Given the description of an element on the screen output the (x, y) to click on. 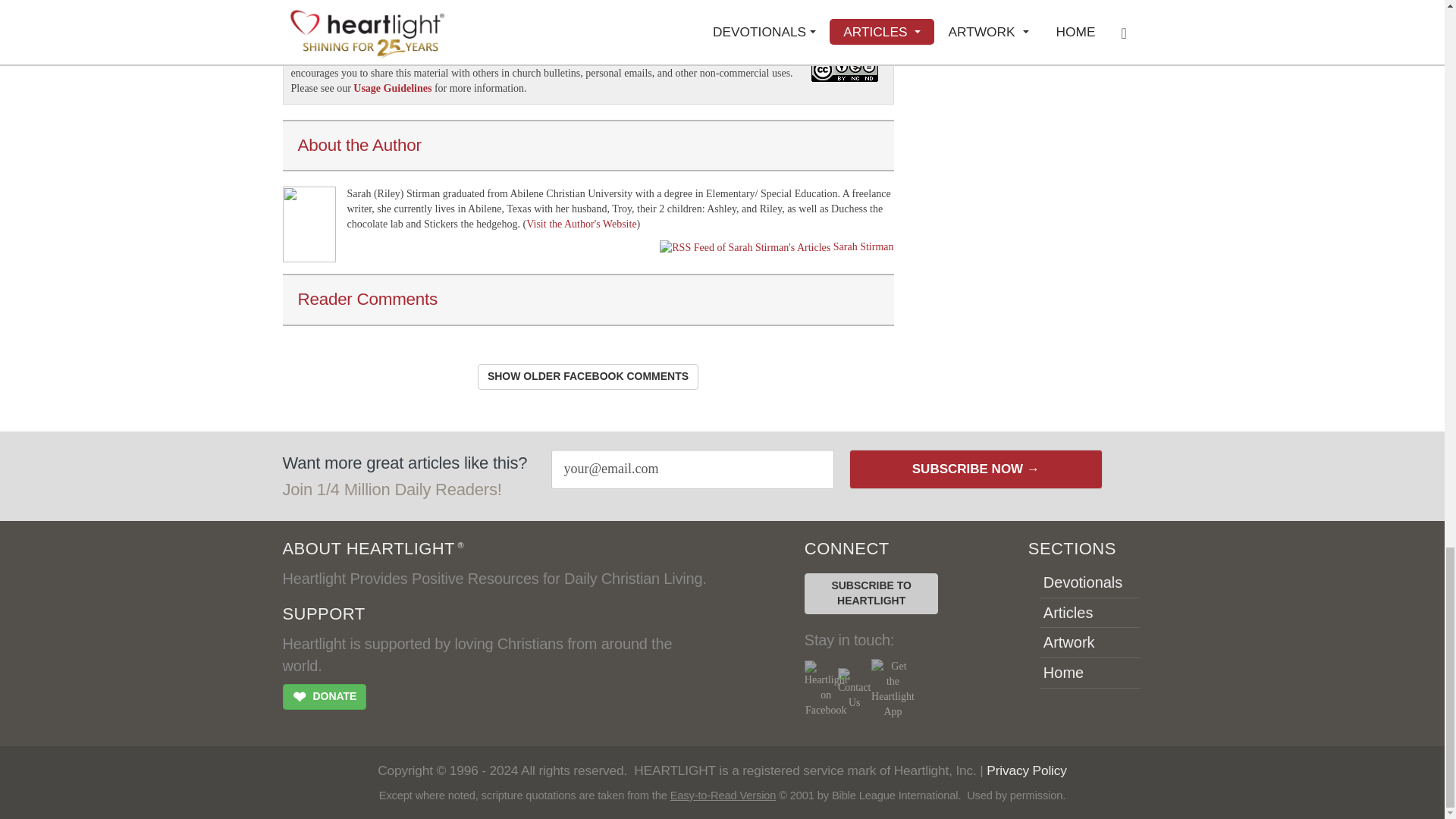
Heartlight on Facebook (826, 689)
RSS Feed of Sarah Stirman's Articles (744, 247)
Get the Heartlight App (892, 689)
RSS Feed of Sarah Stirman's Articles (862, 246)
Contact Us (854, 689)
